Given the description of an element on the screen output the (x, y) to click on. 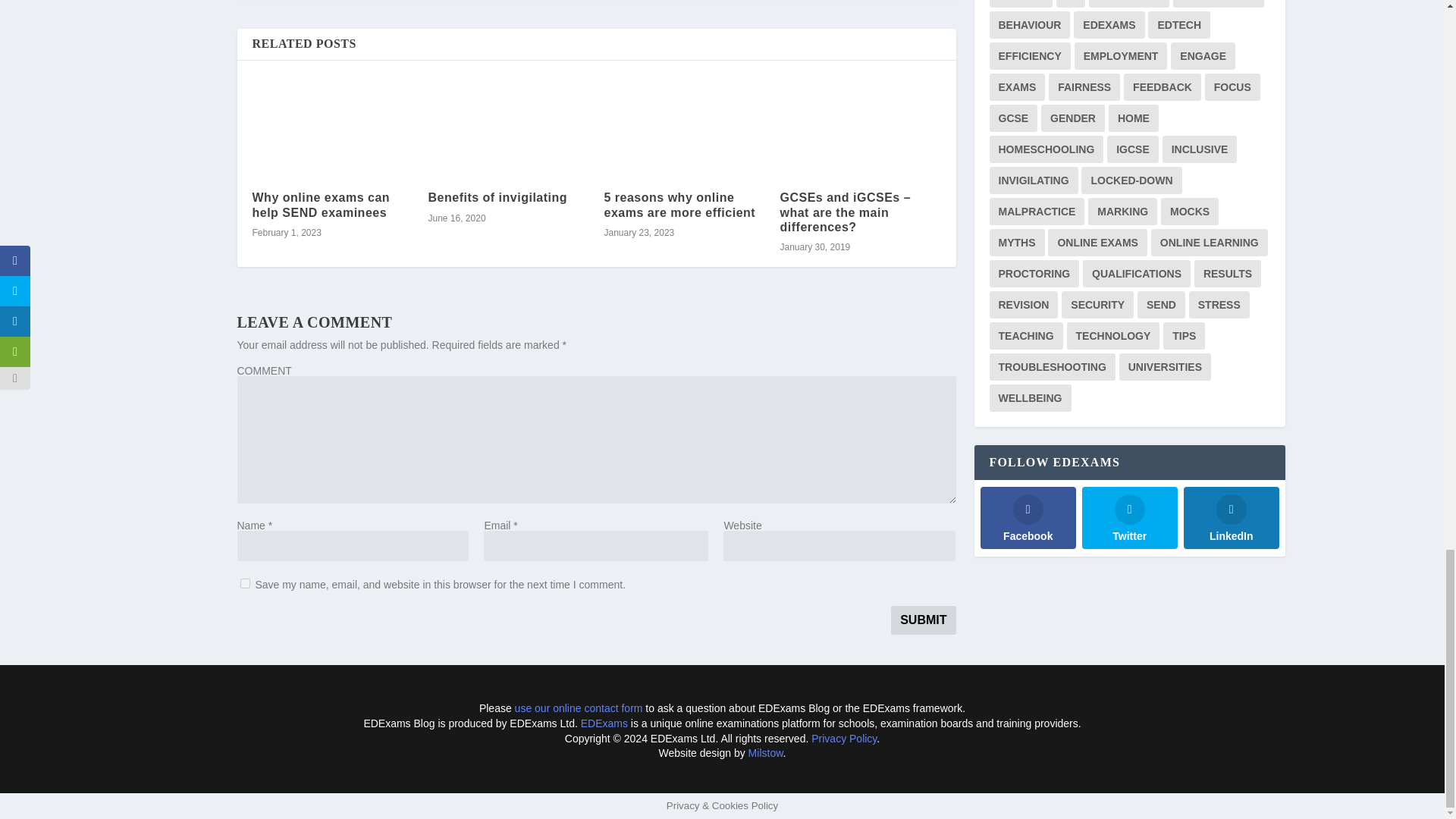
yes (244, 583)
Submit (923, 620)
Why online exams can help SEND examinees (320, 204)
Benefits of invigilating (497, 197)
5 reasons why online exams are more efficient (679, 204)
Submit (923, 620)
